Given the description of an element on the screen output the (x, y) to click on. 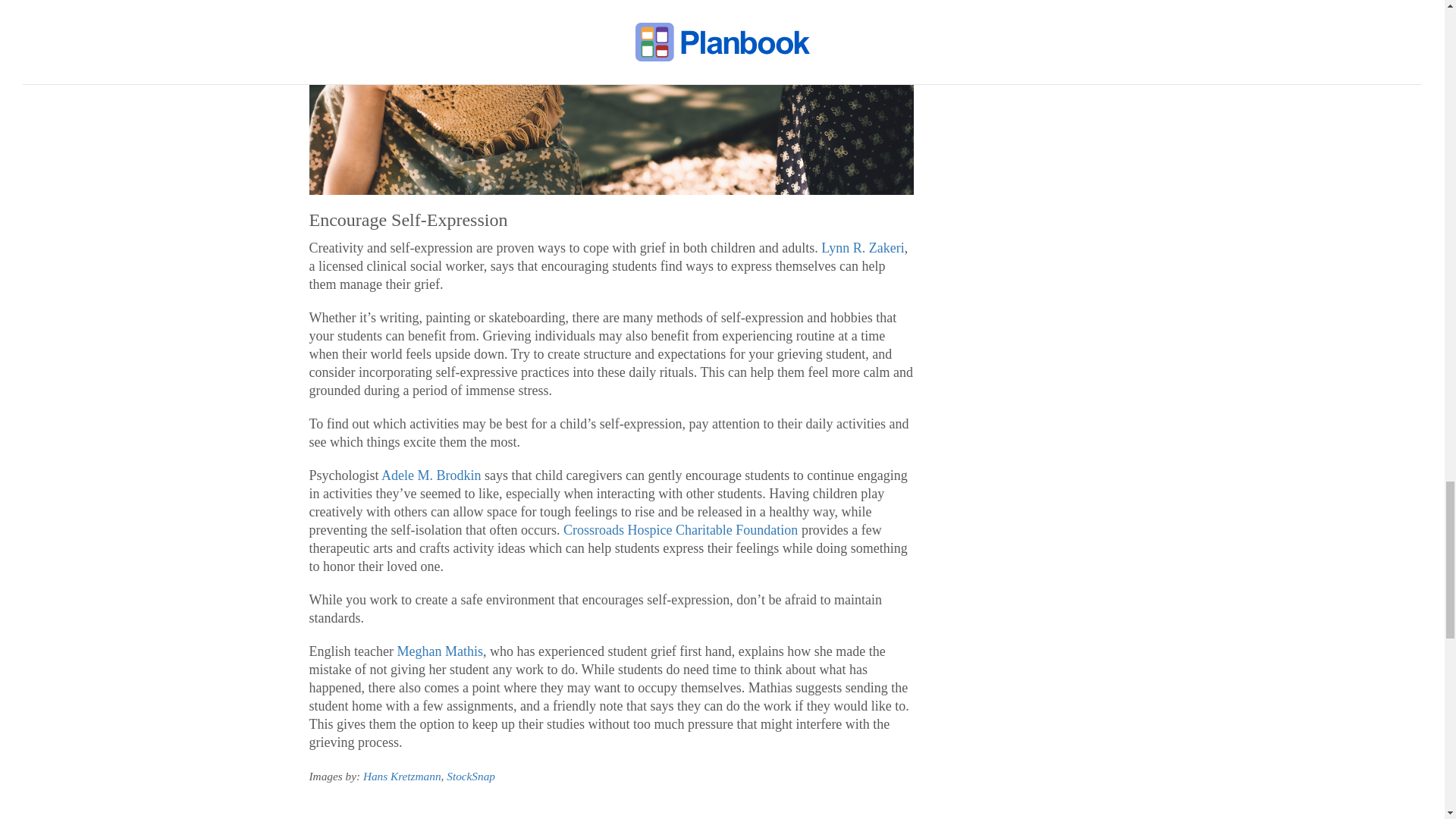
Crossroads Hospice Charitable Foundation (680, 529)
StockSnap (470, 775)
Lynn R. Zakeri (862, 247)
Adele M. Brodkin (430, 475)
Meghan Mathis (438, 651)
Hans Kretzmann (401, 775)
